Given the description of an element on the screen output the (x, y) to click on. 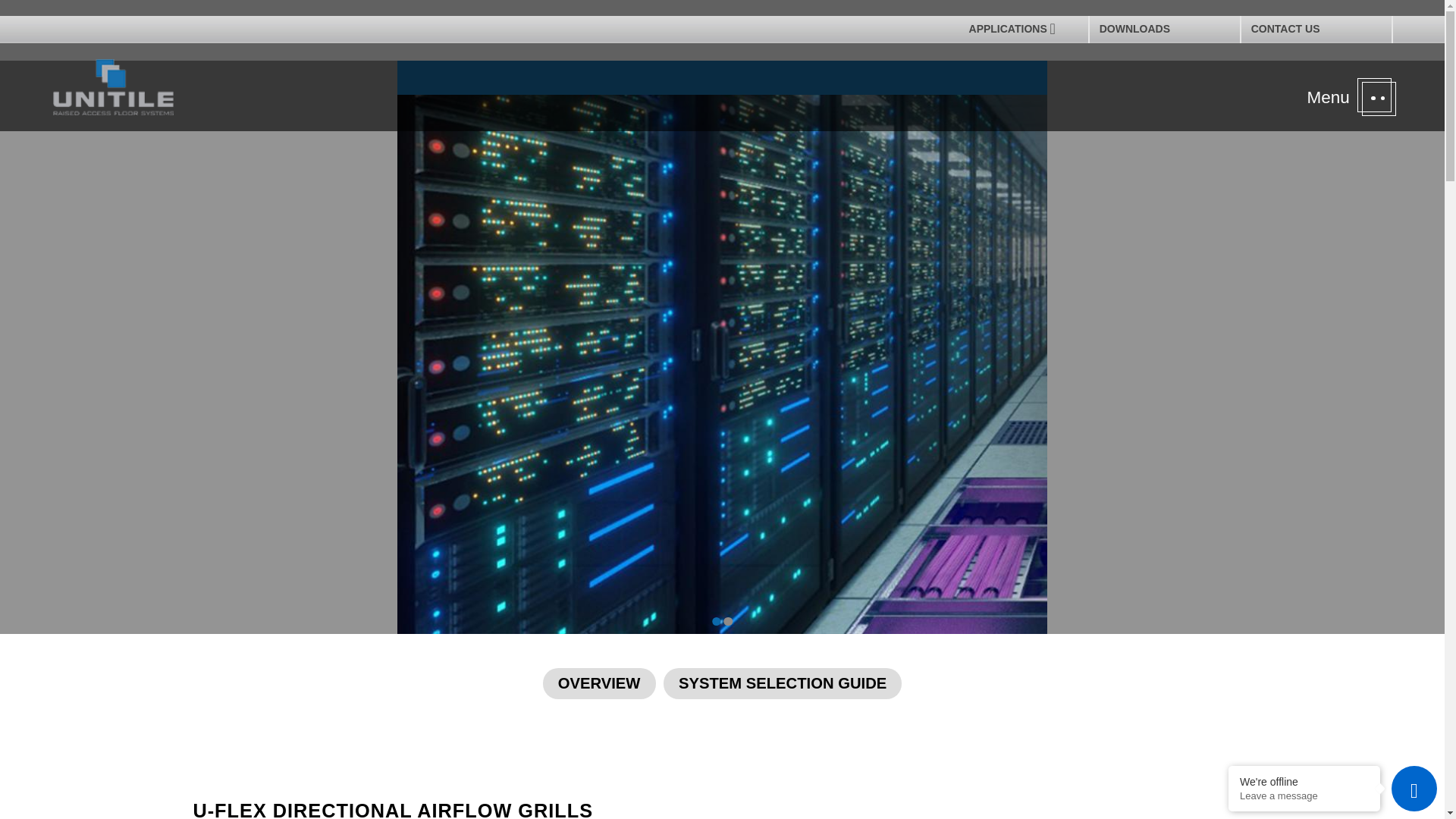
APPLICATIONS (1011, 29)
DOWNLOADS (1163, 29)
CONTACT US (1315, 29)
Leave a message (1304, 795)
SYSTEM SELECTION GUIDE (782, 683)
We're offline (1304, 781)
OVERVIEW (599, 683)
